Given the description of an element on the screen output the (x, y) to click on. 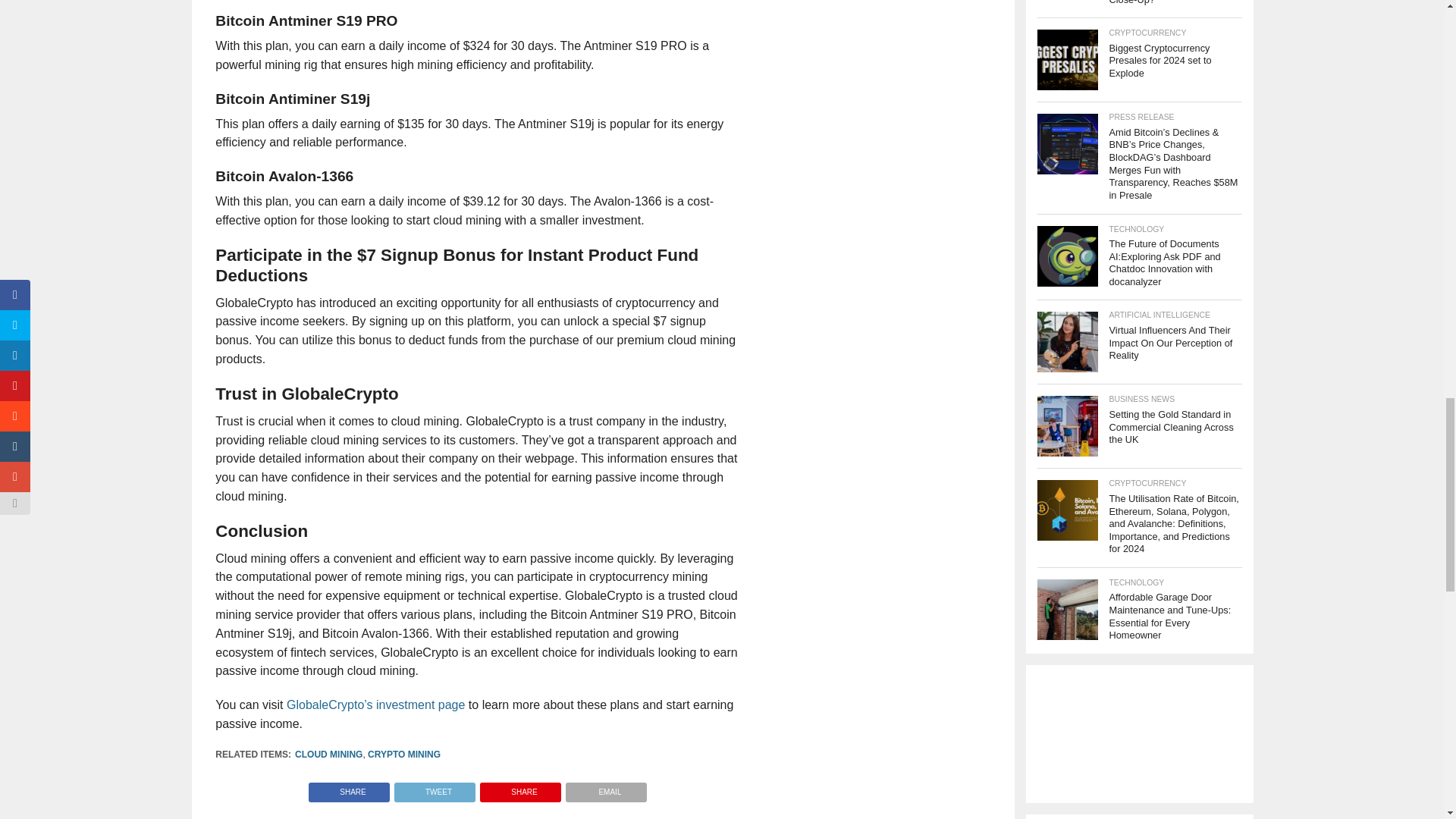
Pin This Post (520, 788)
Share on Facebook (349, 788)
Tweet This Post (434, 788)
